Given the description of an element on the screen output the (x, y) to click on. 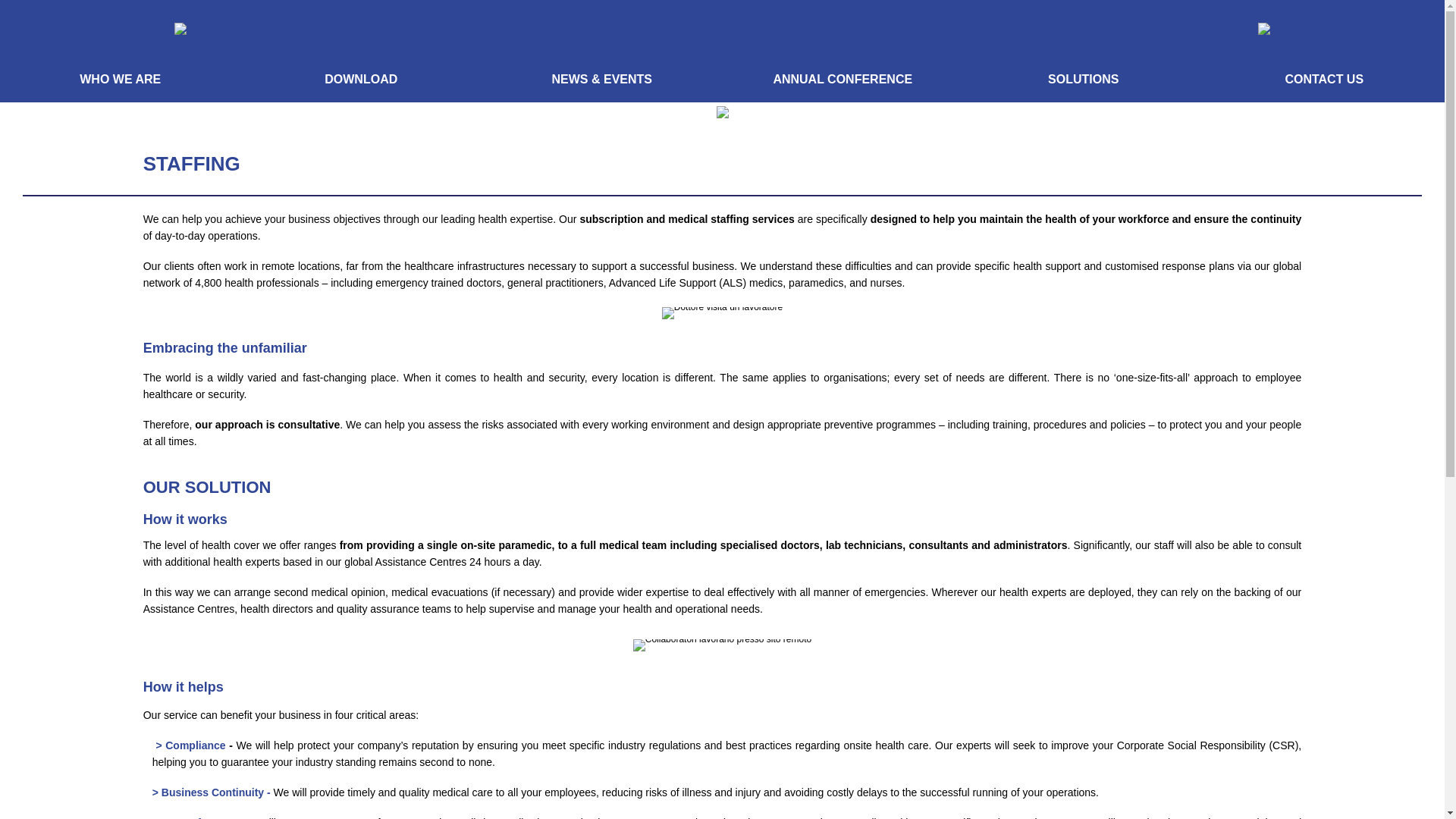
CONTACT US (1323, 80)
SOLUTIONS (1083, 80)
DOWNLOAD (360, 80)
WHO WE ARE (120, 80)
ANNUAL CONFERENCE (842, 75)
